Given the description of an element on the screen output the (x, y) to click on. 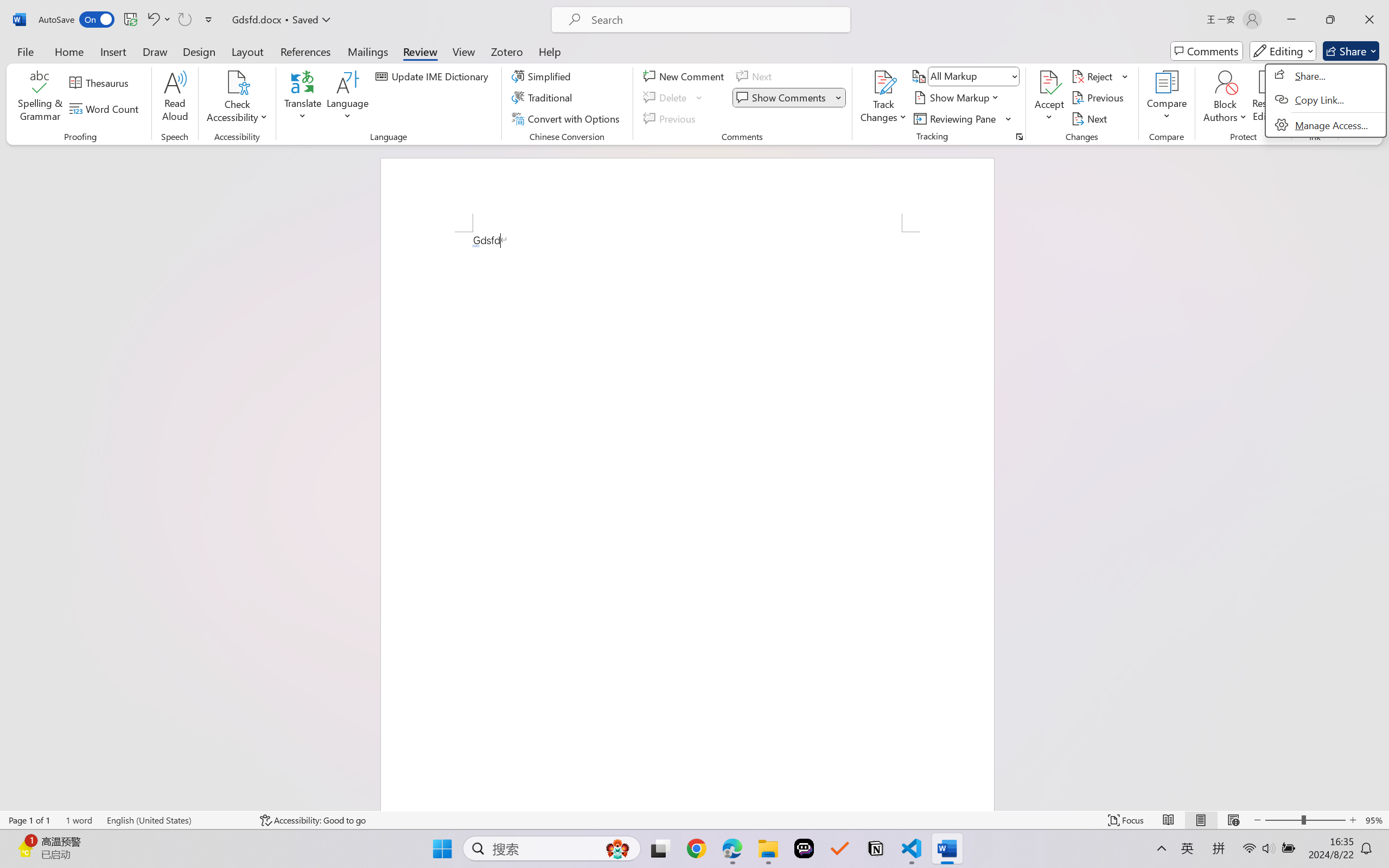
Check Accessibility (237, 97)
Delete (666, 97)
Undo AutoCorrect (158, 19)
Show Comments (788, 97)
Read Aloud (174, 97)
Class: MsoCommandBar (694, 819)
Compare (1166, 97)
Reject (1100, 75)
